Given the description of an element on the screen output the (x, y) to click on. 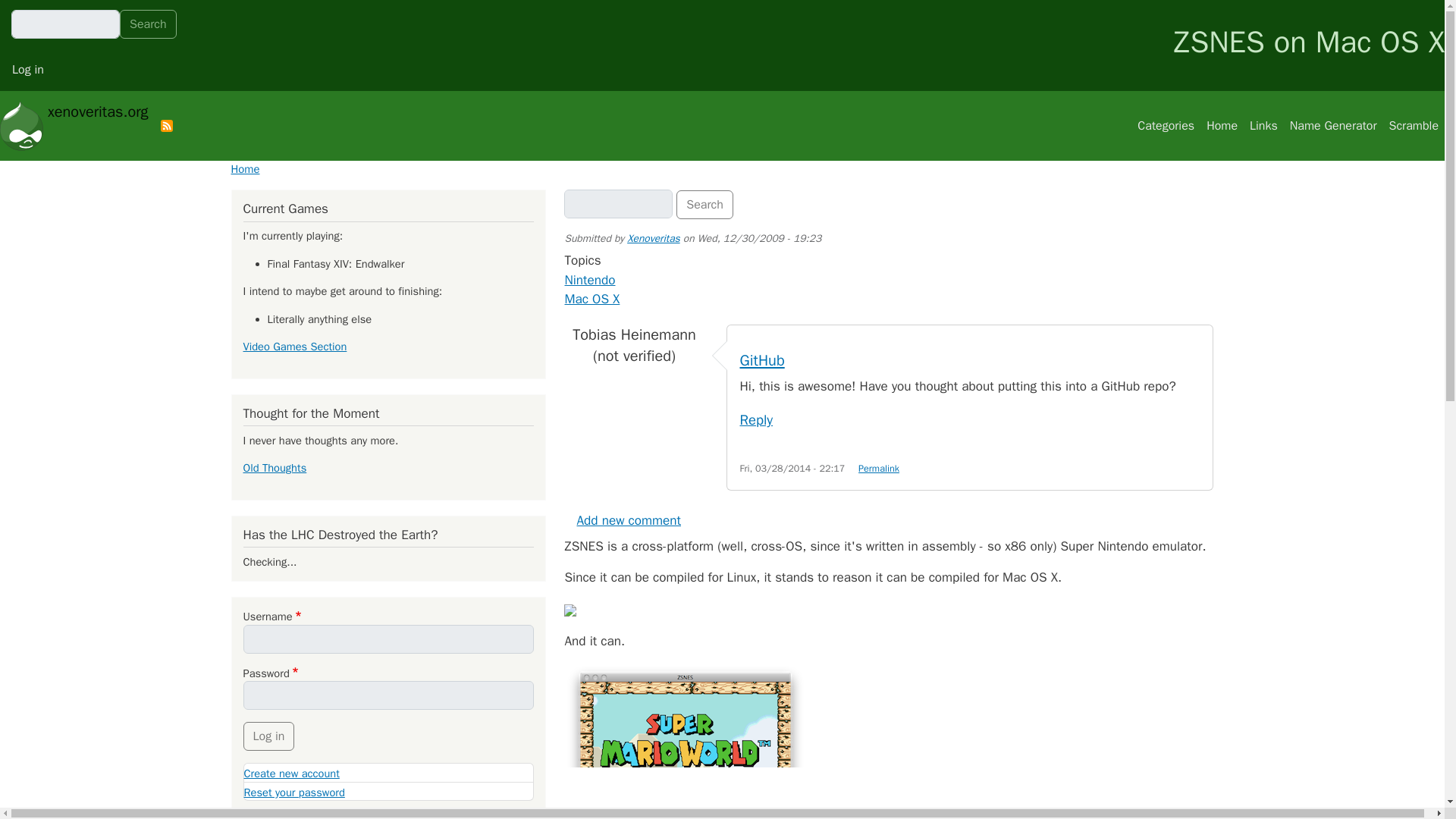
View user profile. (653, 237)
Send password reset instructions via email. (294, 792)
Log in (28, 69)
Xenoveritas (653, 237)
Enter the terms you wish to search for. (618, 203)
Search (705, 204)
Mac OS X (592, 299)
Share your thoughts and opinions. (628, 520)
Home (244, 169)
A list of links to other sites. (1263, 125)
Create a new user account. (291, 773)
xenoveritas.org (74, 125)
Subscribe to RSS feed (166, 125)
Wednesday, December 30, 2009 - 19:23 (759, 237)
Nintendo (589, 279)
